Given the description of an element on the screen output the (x, y) to click on. 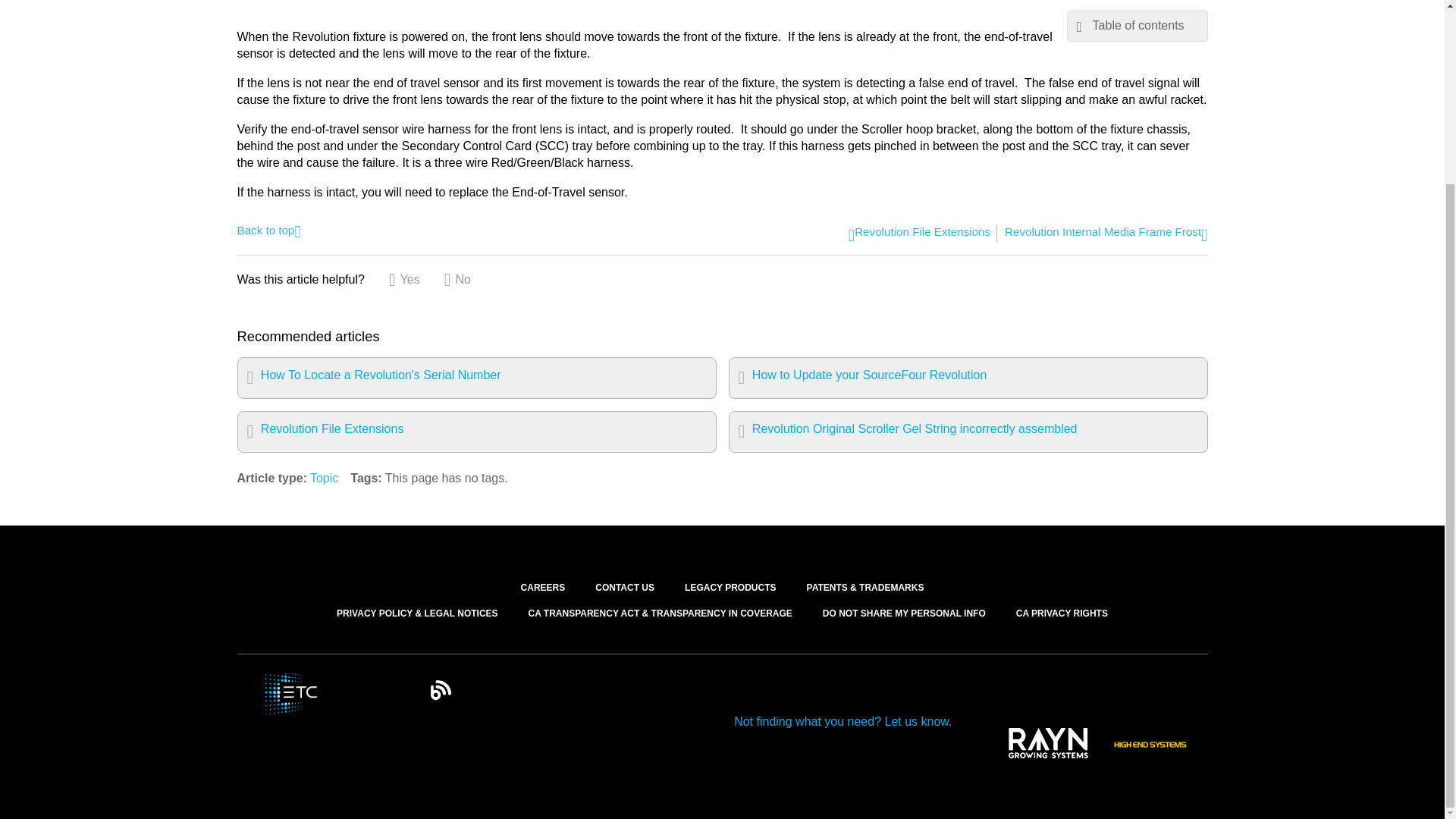
How to Update your SourceFour Revolution (968, 377)
CA PRIVACY RIGHTS (1062, 613)
How To Locate a Revolution's Serial Number (476, 377)
LEGACY PRODUCTS (730, 566)
Revolution Internal Media Frame Frost (1105, 234)
How To Locate a Revolution's Serial Number (476, 377)
Back to top (267, 229)
Revolution File Extensions (919, 234)
DO NOT SHARE MY PERSONAL INFO (903, 613)
